Given the description of an element on the screen output the (x, y) to click on. 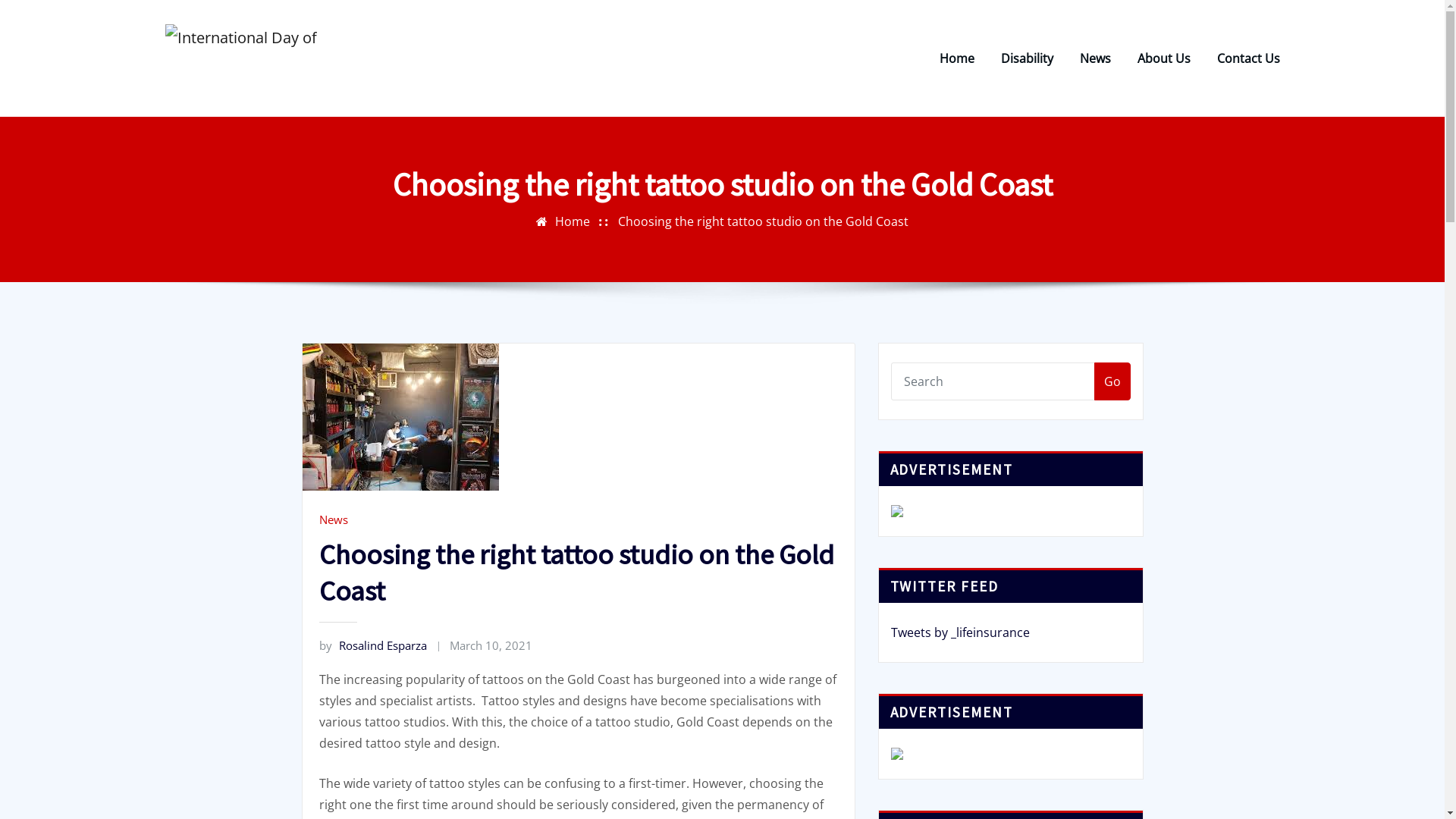
March 10, 2021 Element type: text (490, 644)
Contact Us Element type: text (1247, 58)
About Us Element type: text (1163, 58)
Disability Element type: text (1027, 58)
News Element type: text (332, 519)
Go Element type: text (1111, 381)
News Element type: text (1094, 58)
Choosing the right tattoo studio on the Gold Coast Element type: text (763, 221)
Home Element type: text (955, 58)
Tweets by _lifeinsurance Element type: text (959, 632)
Home Element type: text (572, 221)
by Rosalind Esparza Element type: text (372, 644)
